Given the description of an element on the screen output the (x, y) to click on. 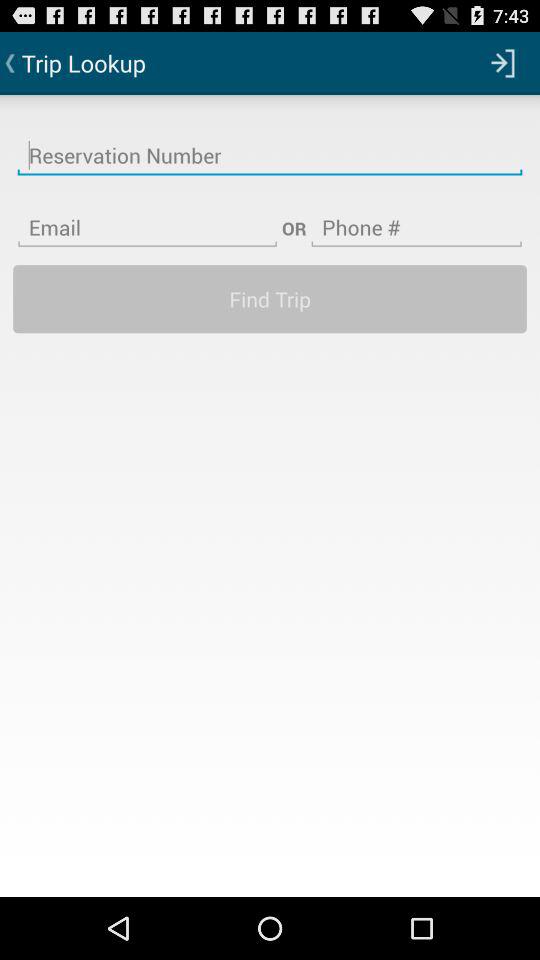
flip until find trip button (269, 298)
